Given the description of an element on the screen output the (x, y) to click on. 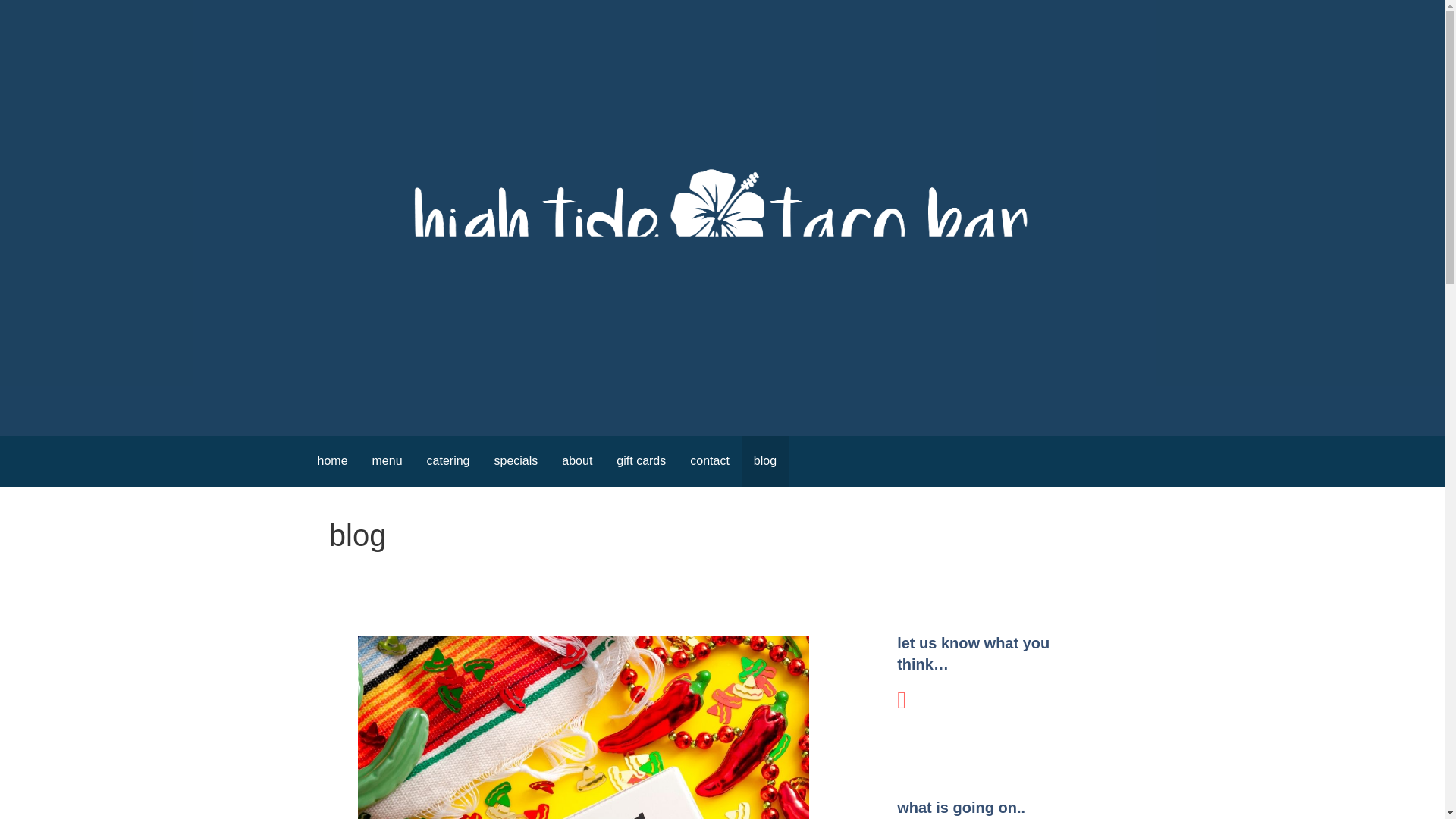
blog (765, 460)
menu (386, 460)
contact (709, 460)
about (577, 460)
catering (447, 460)
specials (515, 460)
High Tide Taco Bar (431, 404)
gift cards (641, 460)
home (331, 460)
